Given the description of an element on the screen output the (x, y) to click on. 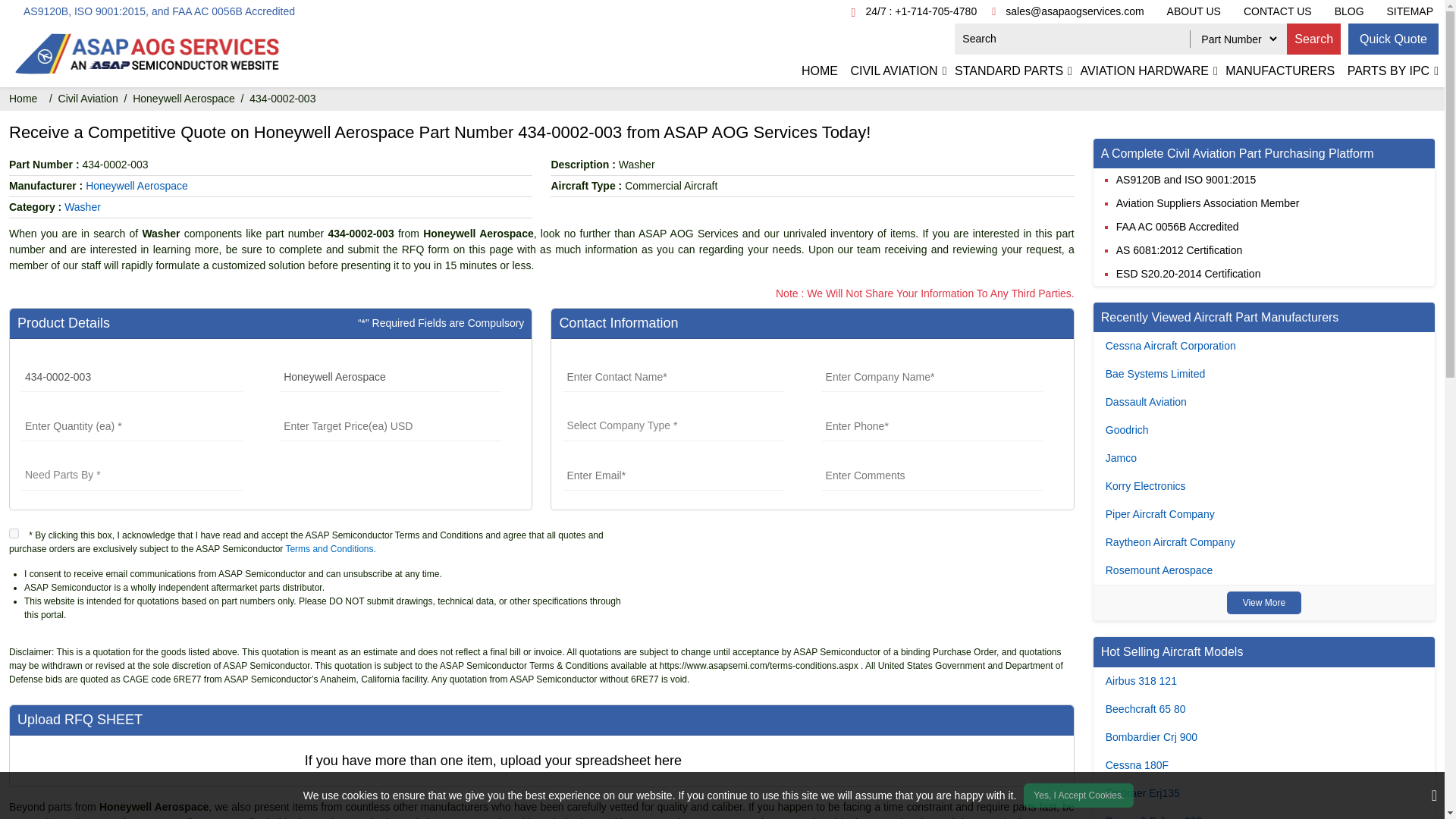
ABOUT US (1193, 10)
Bae Systems Limited (1155, 373)
PARTS BY IPC (1388, 70)
HOME (819, 70)
Honeywell Aerospace (389, 376)
BLOG (1349, 10)
Piper Aircraft Company  (1159, 513)
Korry Electronics (1145, 485)
Jamco (1121, 458)
Dassault Aviation (1145, 401)
